Given the description of an element on the screen output the (x, y) to click on. 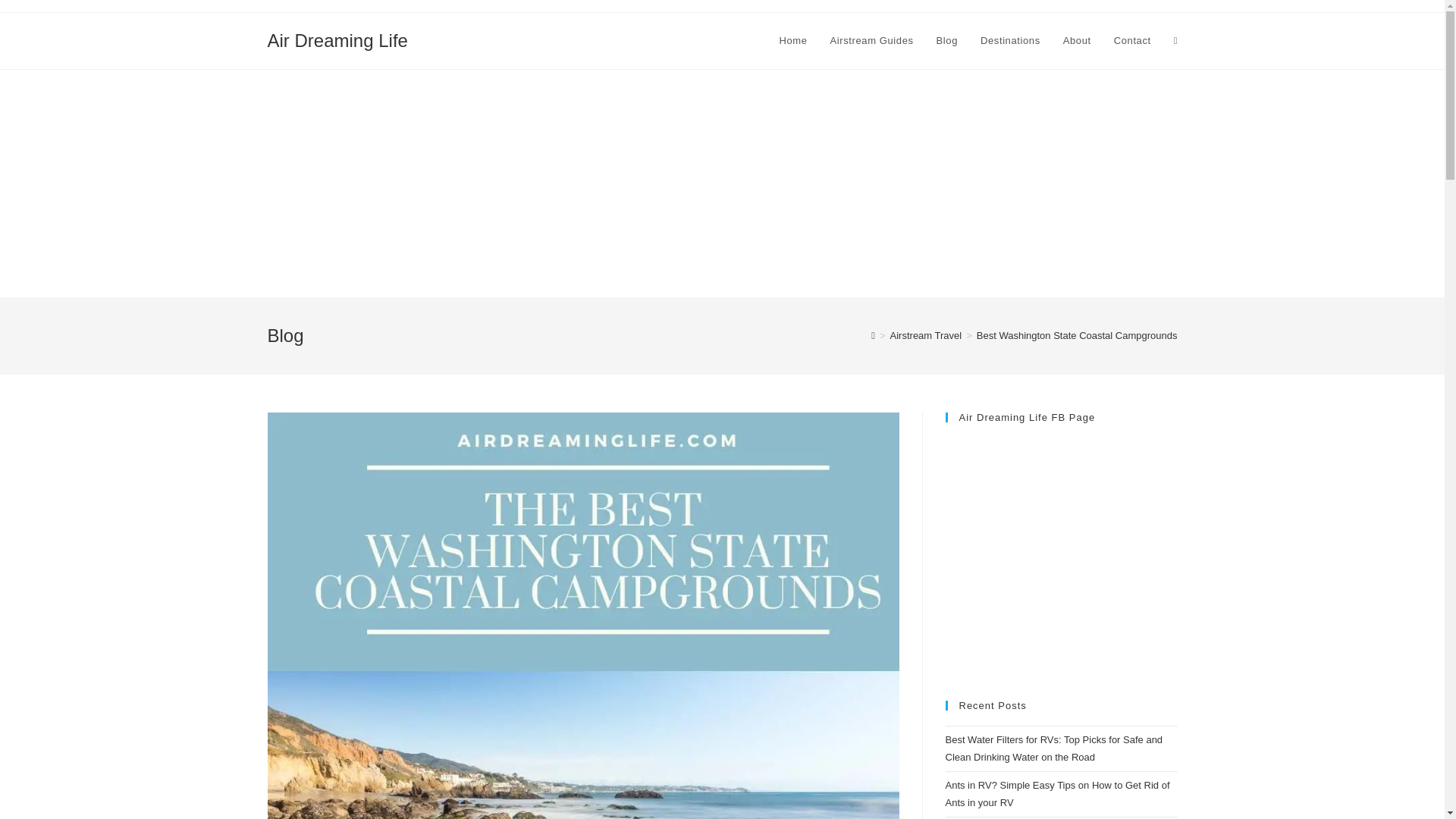
Airstream Travel (925, 335)
Home (792, 40)
Best Washington State Coastal Campgrounds (1076, 335)
Destinations (1010, 40)
Air Dreaming Life (336, 40)
About (1076, 40)
Contact (1131, 40)
Airstream Guides (871, 40)
